Given the description of an element on the screen output the (x, y) to click on. 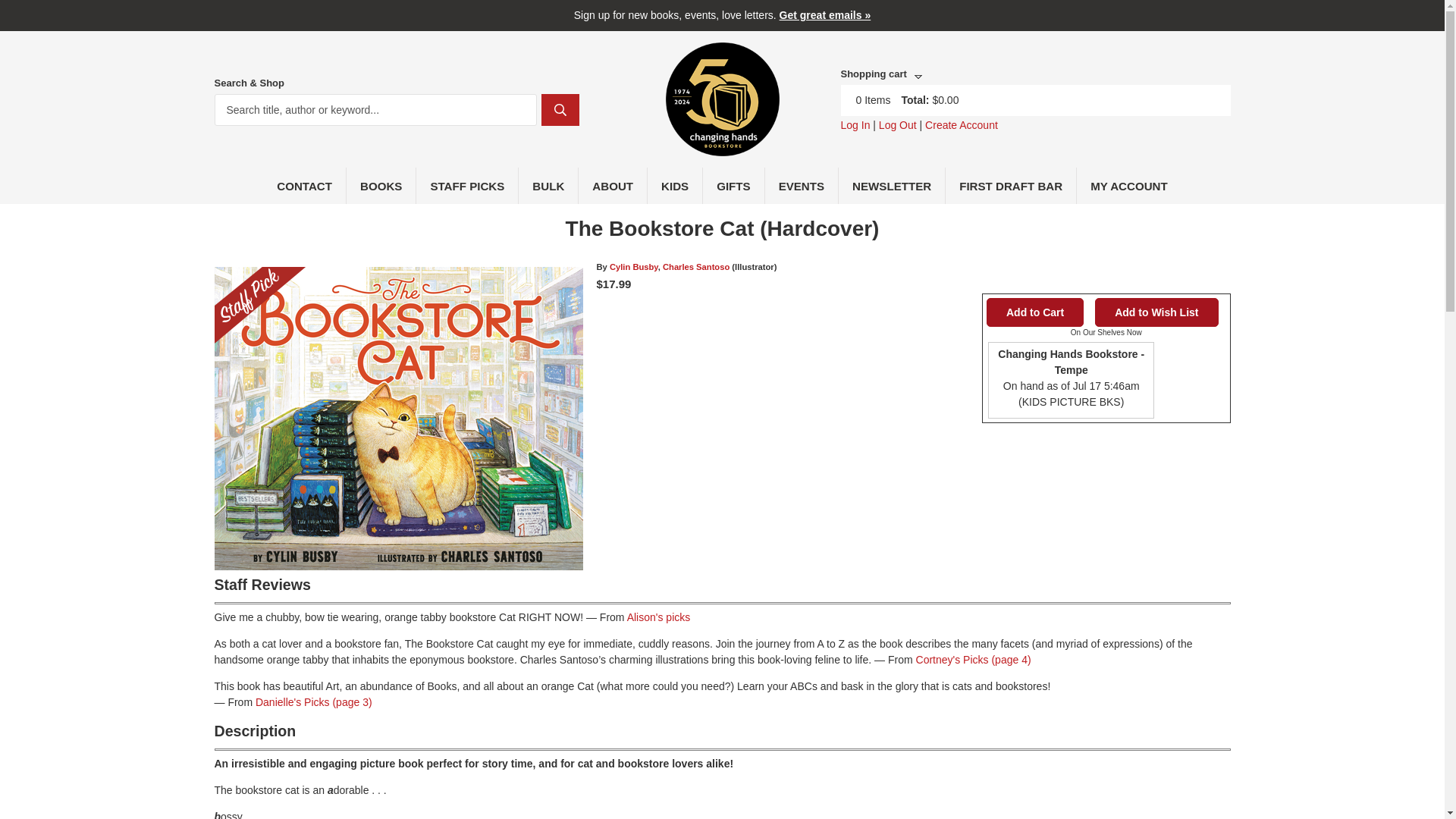
Add to Cart (1035, 312)
ABOUT (612, 185)
Log In (854, 124)
Log Out (898, 124)
STAFF PICKS (467, 185)
Home page (721, 147)
BOOKS (381, 185)
Search (560, 110)
Create Account (960, 124)
Search title, author or keyword... (374, 110)
Search (560, 110)
CONTACT (304, 185)
BULK (548, 185)
